Given the description of an element on the screen output the (x, y) to click on. 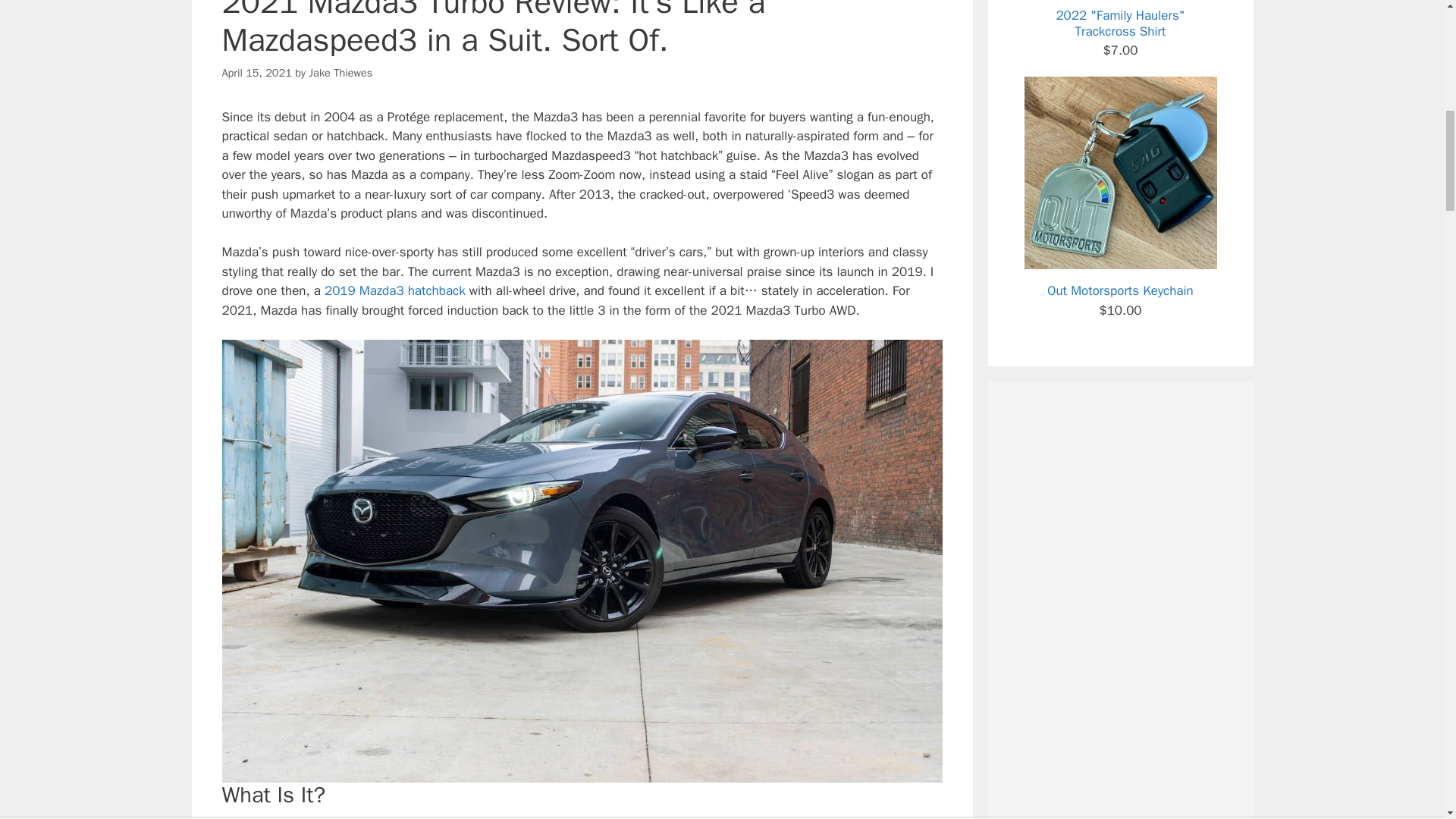
Jake Thiewes (340, 72)
2022 "Family Haulers" Trackcross Shirt (1119, 19)
2019 Mazda3 hatchback (394, 290)
View all posts by Jake Thiewes (340, 72)
